Given the description of an element on the screen output the (x, y) to click on. 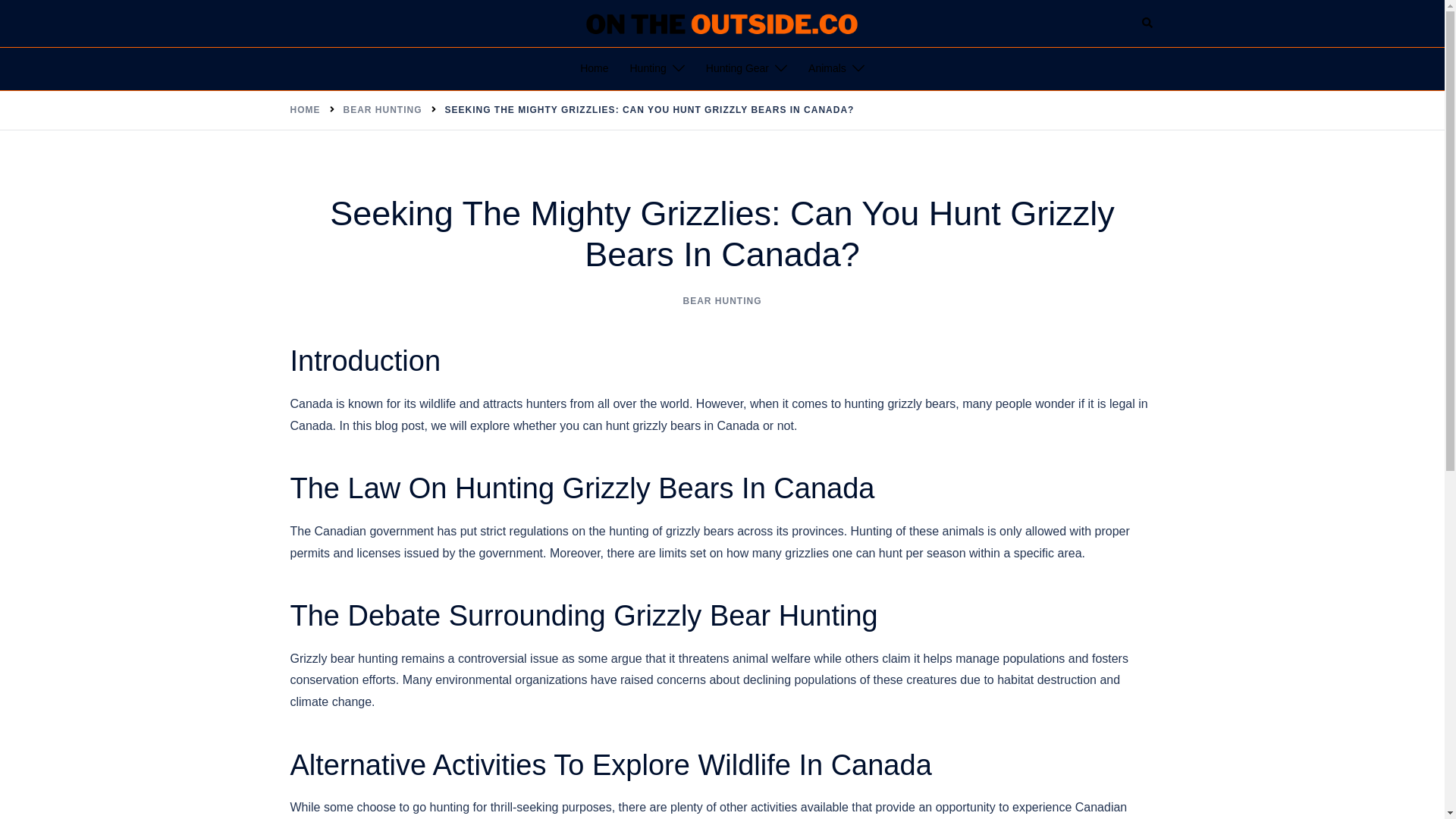
Hunting Gear (737, 67)
Hunting (646, 67)
Search (1147, 23)
OnTheOutside.Co (722, 21)
Home (593, 67)
Animals (826, 67)
